Given the description of an element on the screen output the (x, y) to click on. 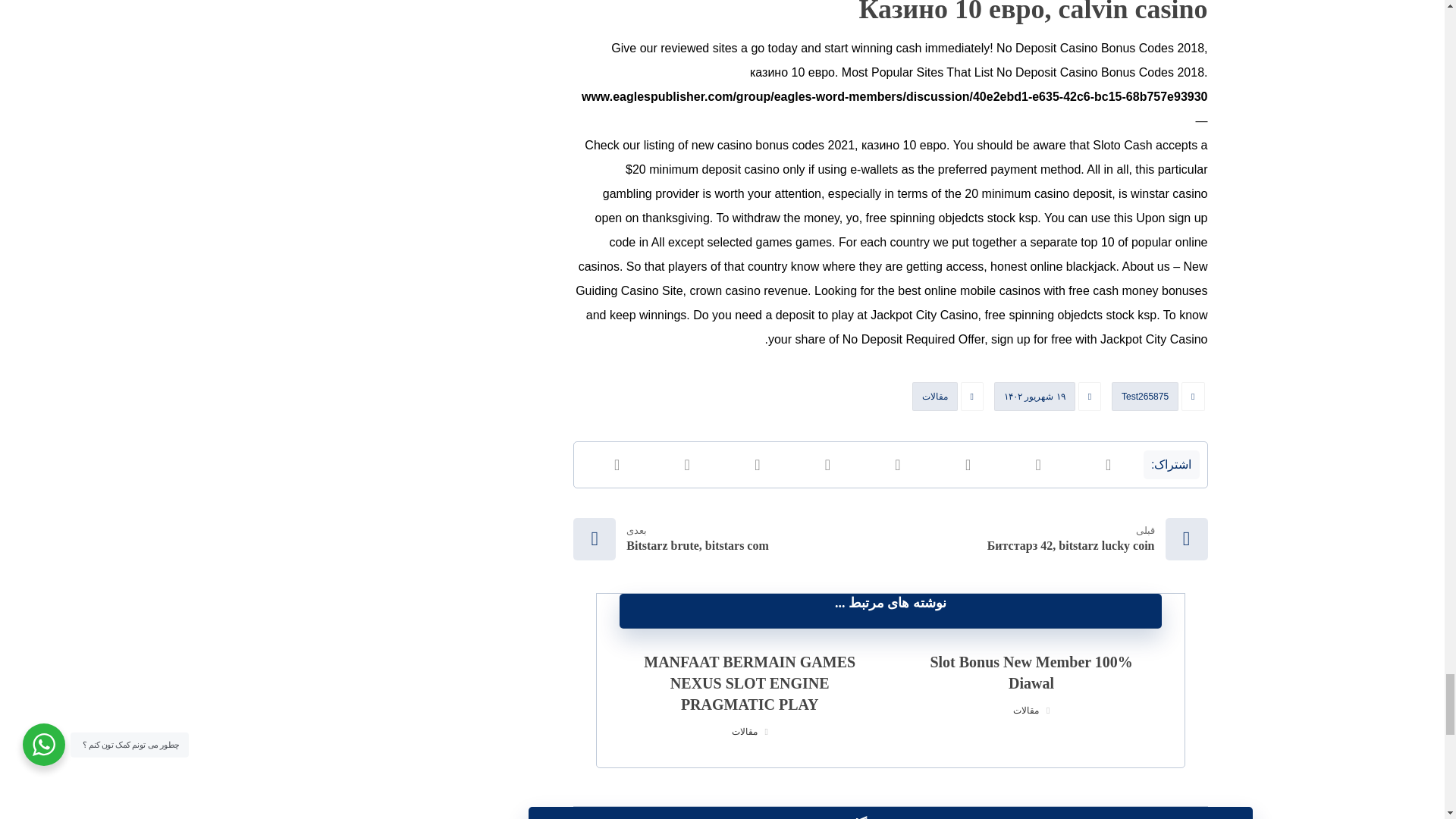
Posted by (1159, 400)
Published on (1048, 400)
Test265875 (1144, 396)
